Given the description of an element on the screen output the (x, y) to click on. 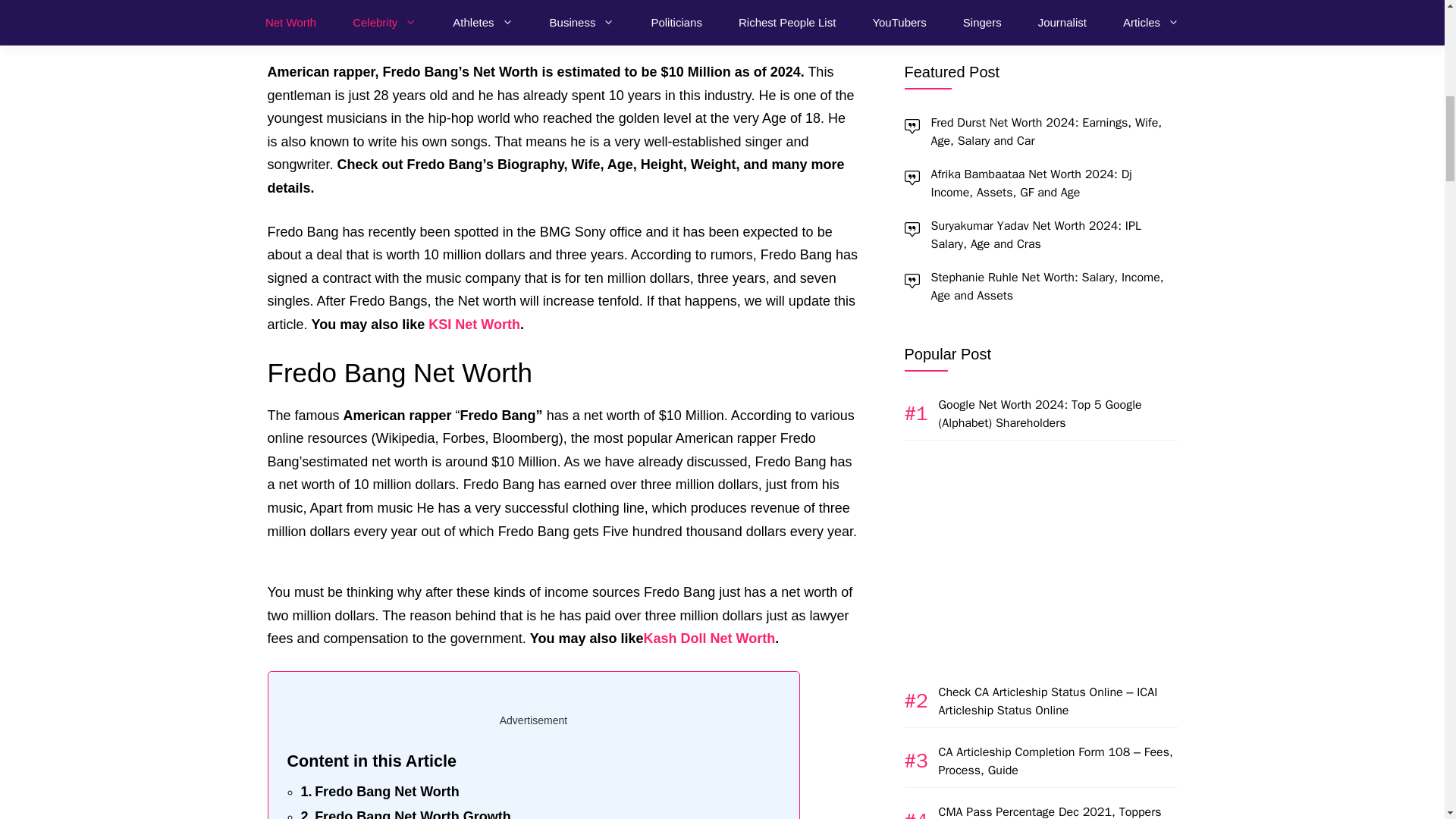
Fredo Bang Net Worth (378, 792)
Fredo Bang Net Worth Growth (405, 812)
